Given the description of an element on the screen output the (x, y) to click on. 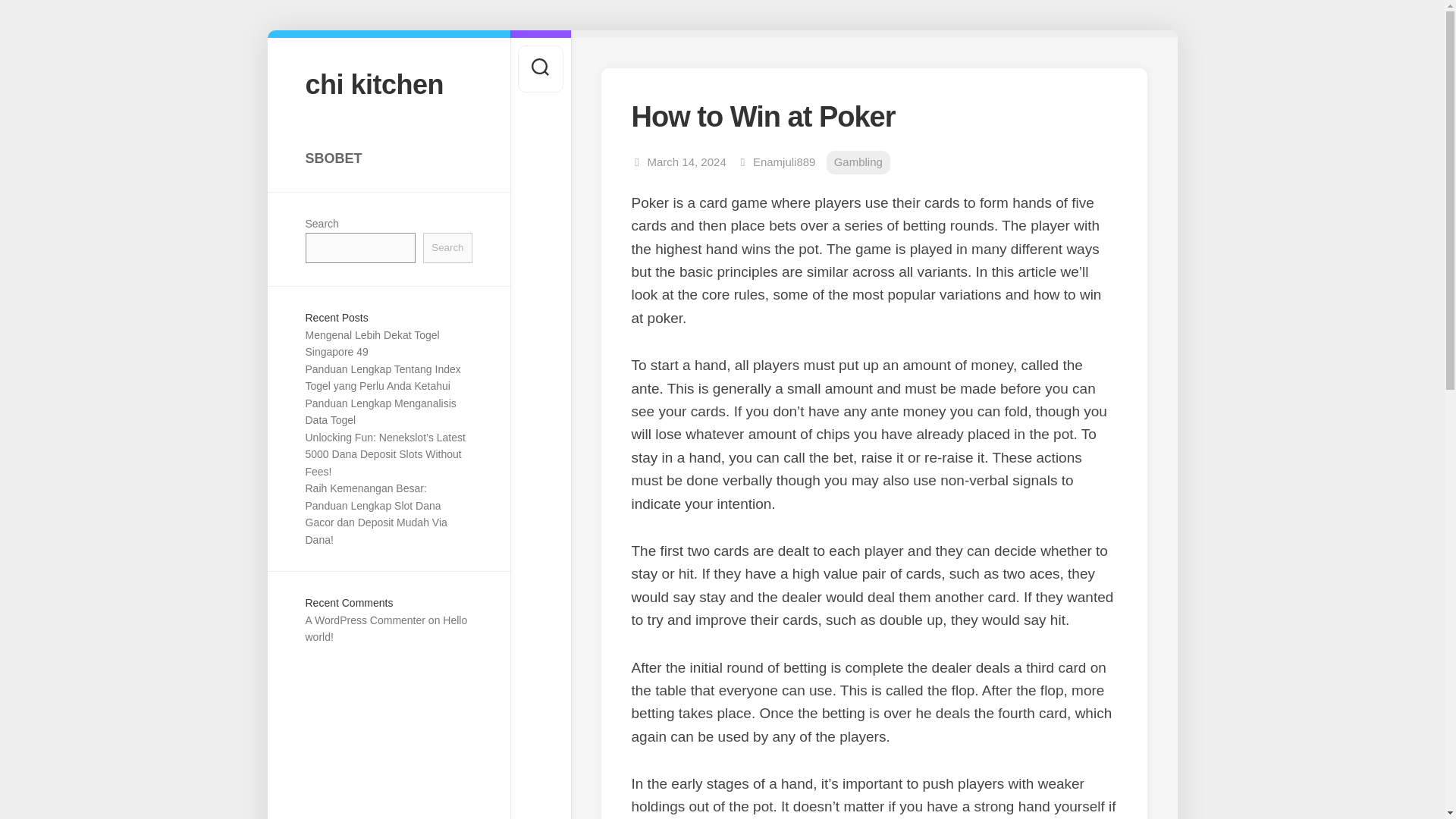
Panduan Lengkap Tentang Index Togel yang Perlu Anda Ketahui (382, 378)
Search (447, 247)
chi kitchen (387, 83)
Panduan Lengkap Menganalisis Data Togel (379, 411)
Mengenal Lebih Dekat Togel Singapore 49 (371, 343)
Posts by Enamjuli889 (783, 161)
Hello world! (385, 628)
A WordPress Commenter (364, 620)
SBOBET (387, 158)
Enamjuli889 (783, 161)
